Given the description of an element on the screen output the (x, y) to click on. 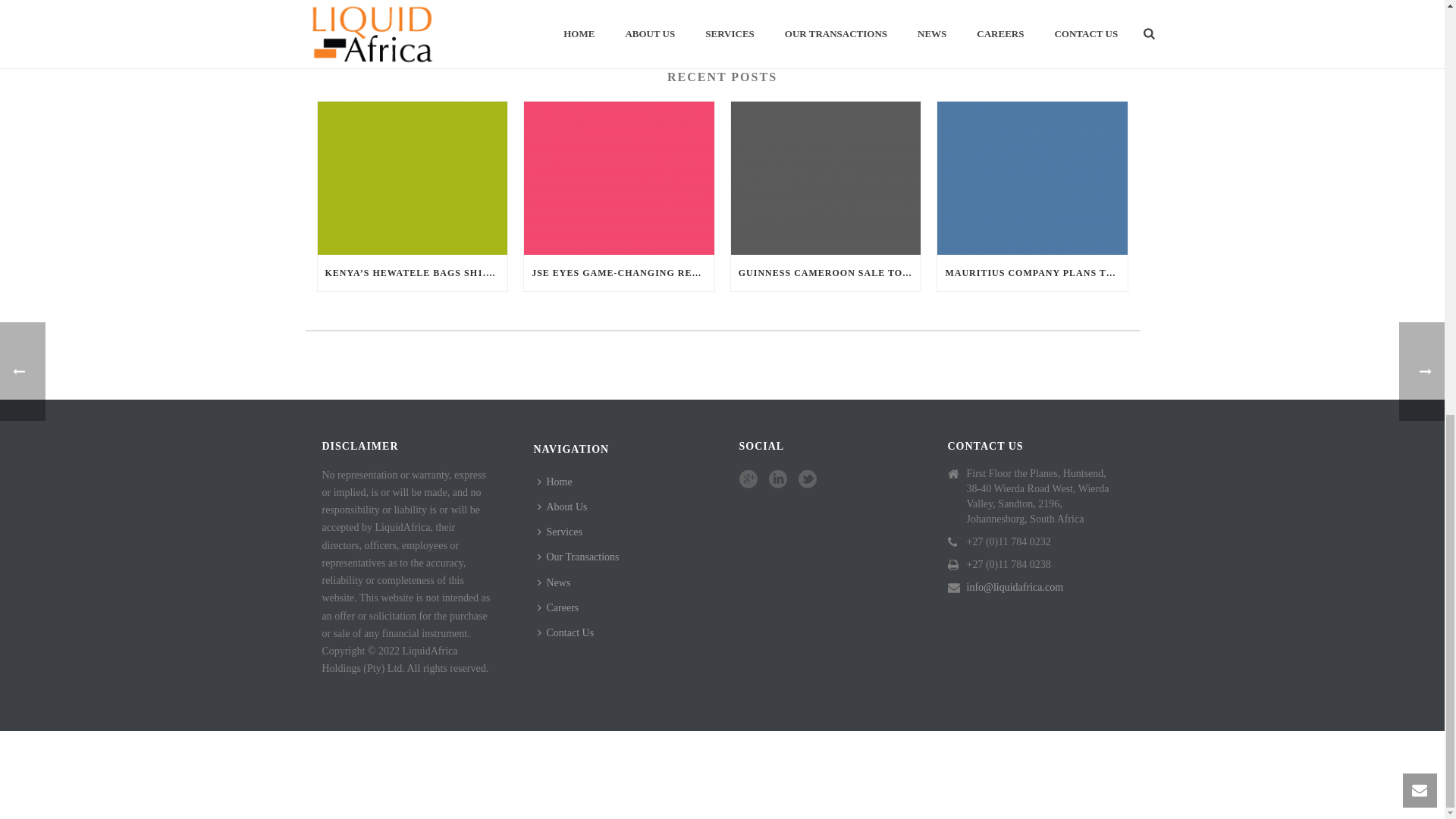
Follow Us on linkedin (777, 480)
Mauritius company plans to buy off Cipla Quality Chemicals (1031, 177)
About Us (566, 506)
Home (558, 481)
Follow Us on twitter (806, 480)
MAURITIUS COMPANY PLANS TO BUY OFF CIPLA QUALITY CHEMICALS (1031, 272)
